Given the description of an element on the screen output the (x, y) to click on. 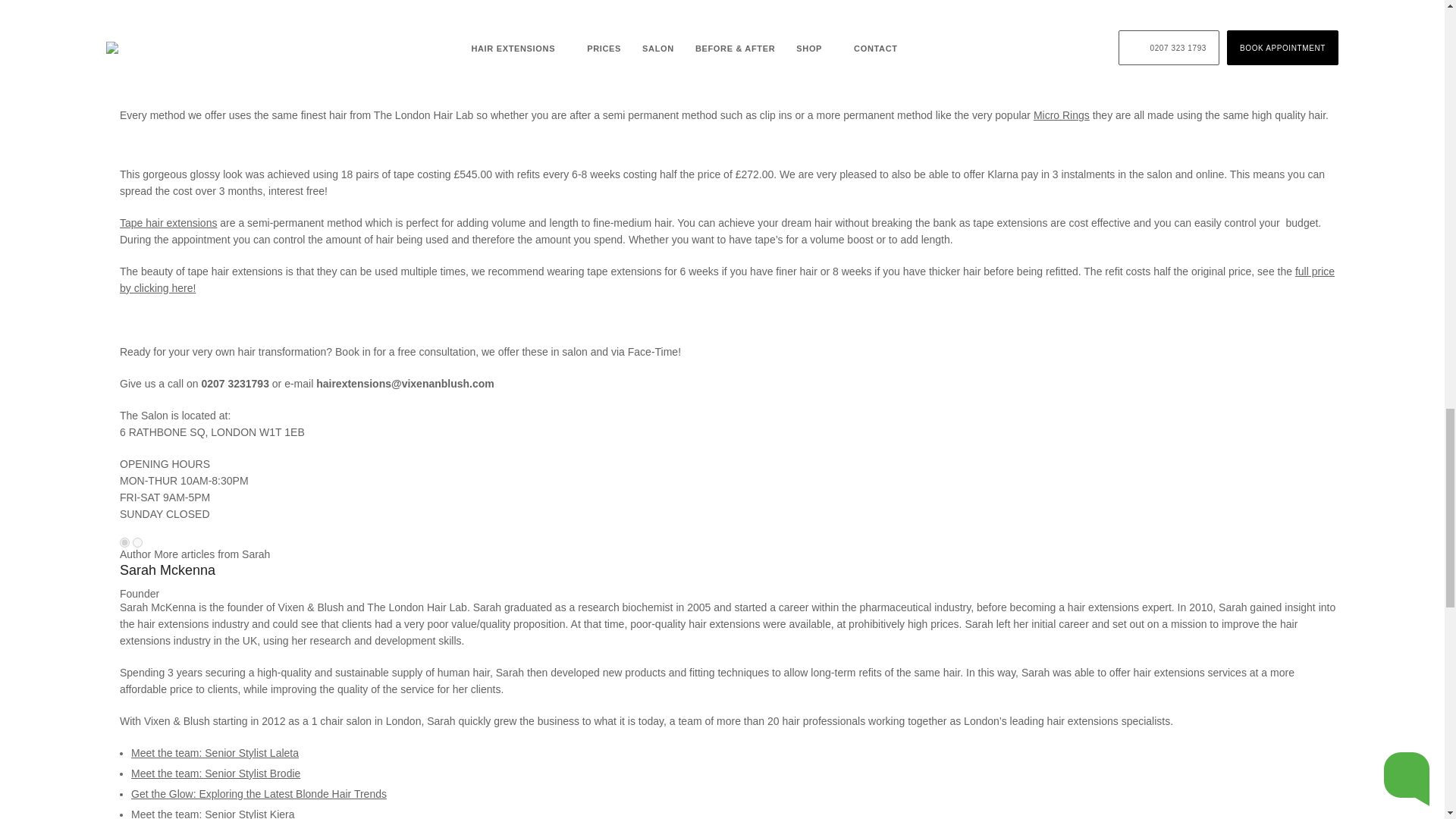
Micro Rings (1061, 114)
Tape hair extensions (167, 223)
on (124, 542)
on (137, 542)
